Given the description of an element on the screen output the (x, y) to click on. 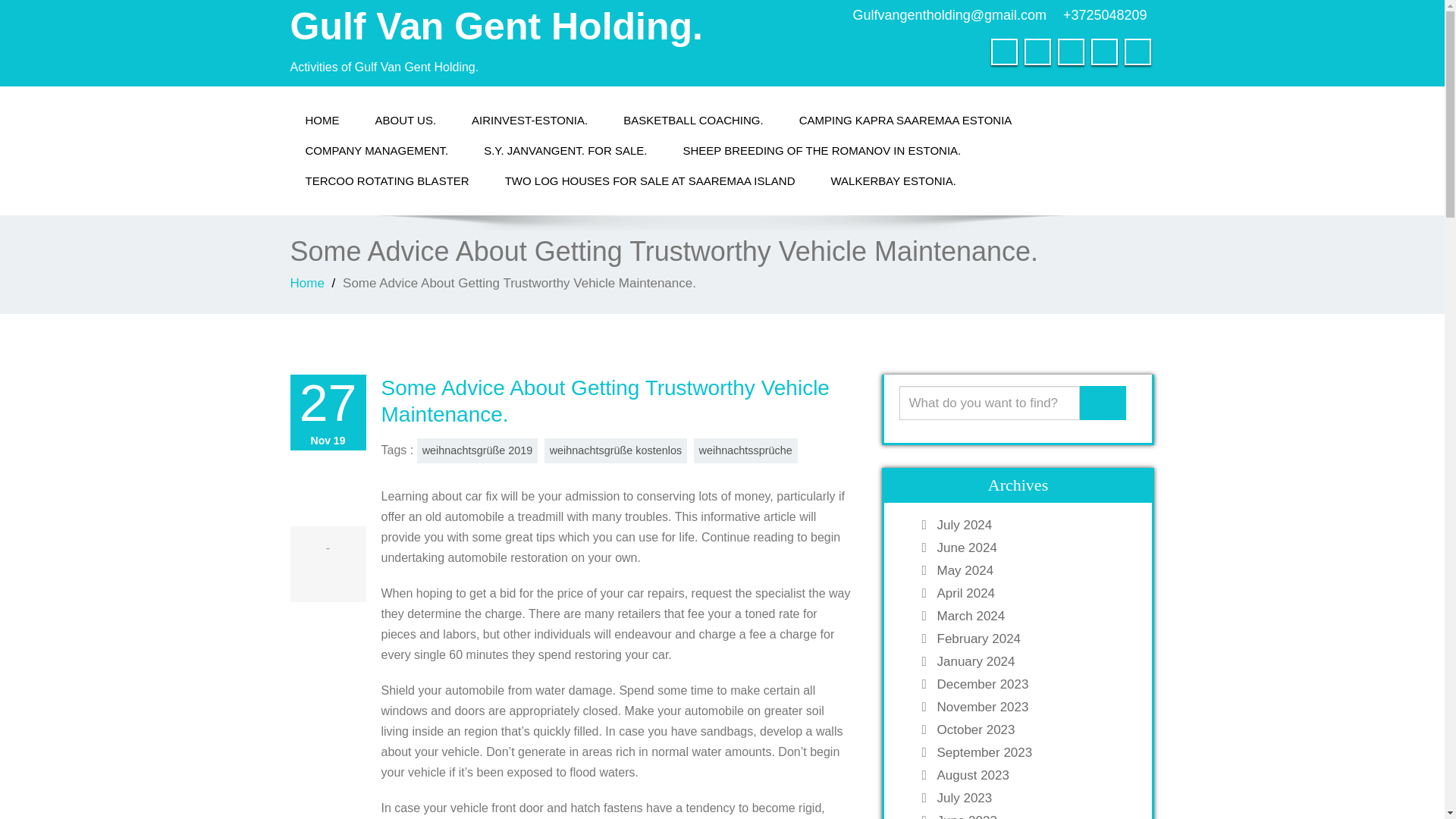
November 2023 (1033, 707)
July 2023 (1033, 798)
Some Advice About Getting Trustworthy Vehicle Maintenance. (604, 400)
December 2023 (1033, 684)
Gulf Van Gent Holding. (495, 25)
February 2024 (1033, 639)
COMPANY MANAGEMENT. (376, 150)
WALKERBAY ESTONIA. (893, 181)
ABOUT US. (405, 120)
AIRINVEST-ESTONIA. (529, 120)
S.Y. JANVANGENT. FOR SALE. (565, 150)
BASKETBALL COACHING. (693, 120)
TERCOO ROTATING BLASTER (386, 181)
June 2024 (1033, 548)
August 2023 (1033, 775)
